Given the description of an element on the screen output the (x, y) to click on. 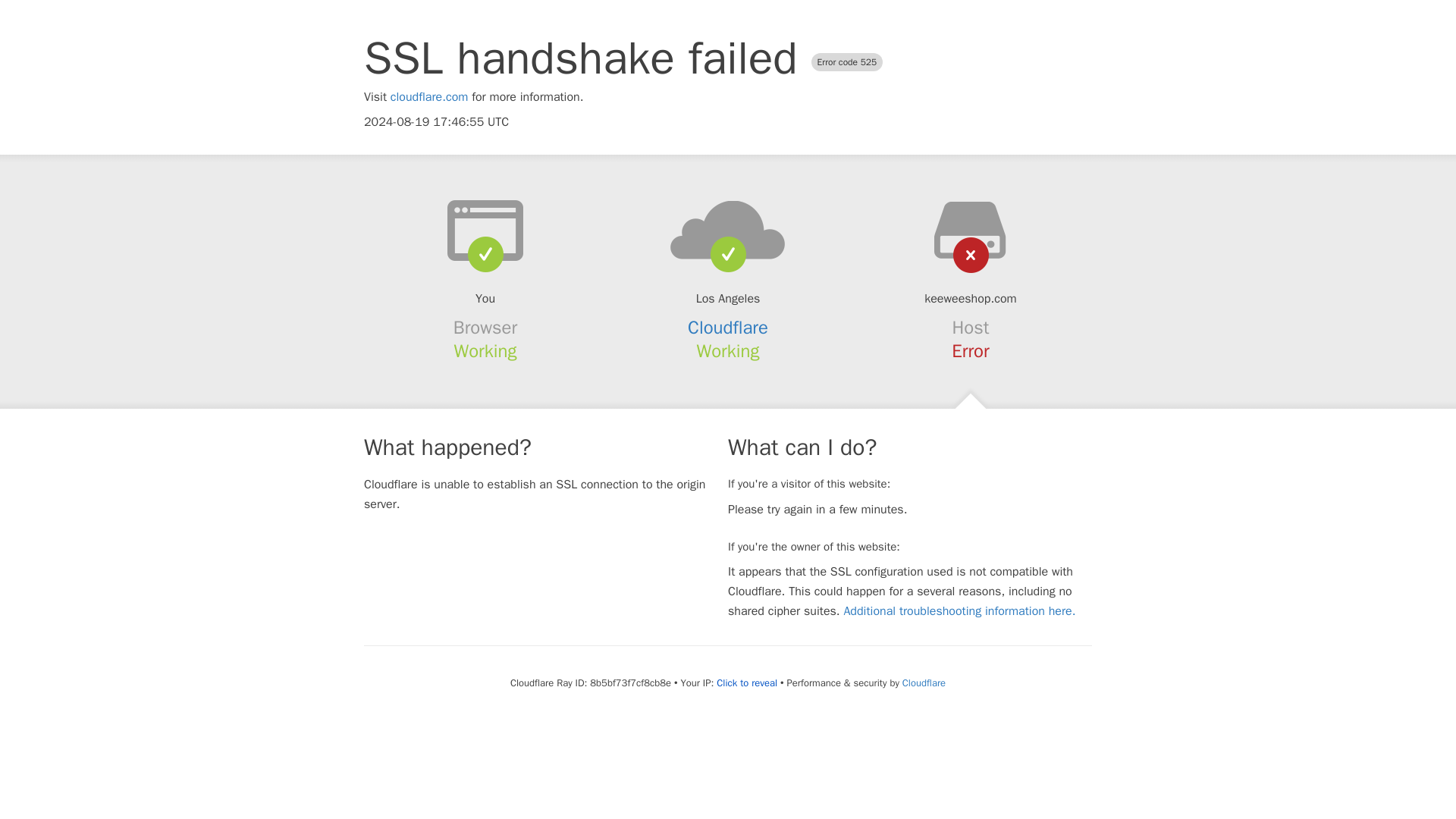
Click to reveal (746, 683)
cloudflare.com (429, 96)
Additional troubleshooting information here. (959, 611)
Cloudflare (923, 682)
Cloudflare (727, 327)
